Given the description of an element on the screen output the (x, y) to click on. 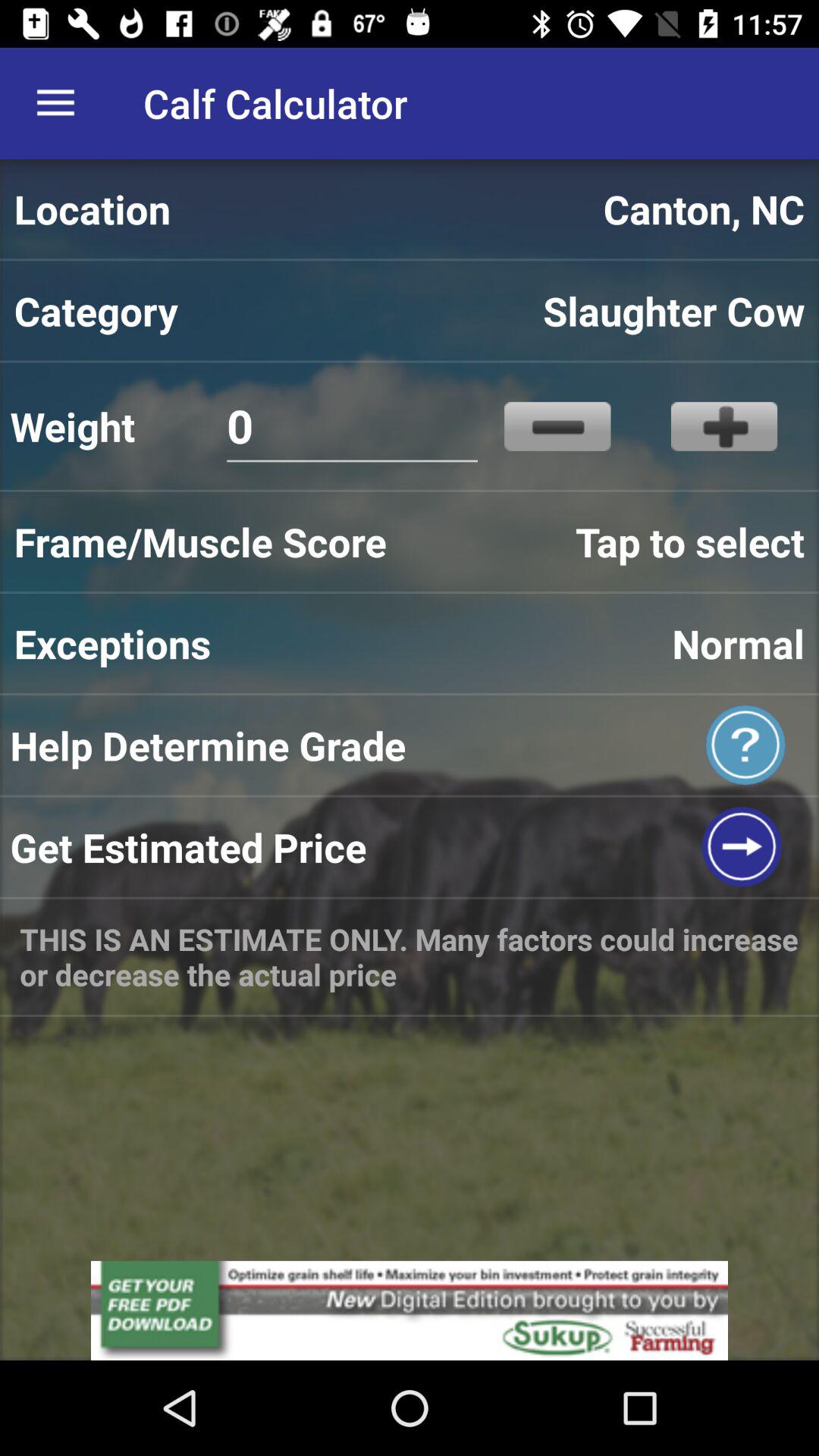
goes to advertiser 's website (409, 1310)
